Given the description of an element on the screen output the (x, y) to click on. 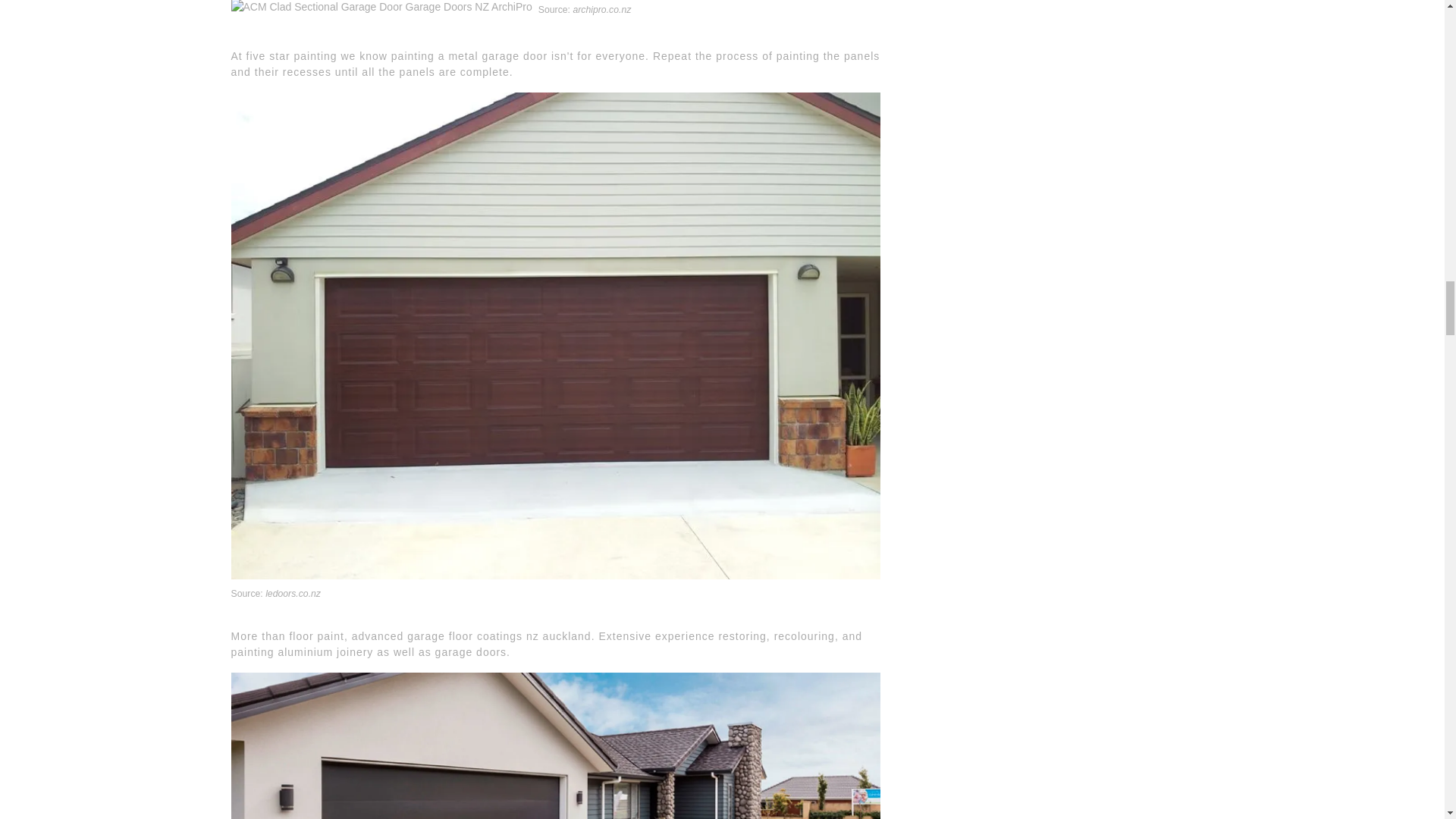
Painting Garage Door Nz 11 (380, 7)
